Given the description of an element on the screen output the (x, y) to click on. 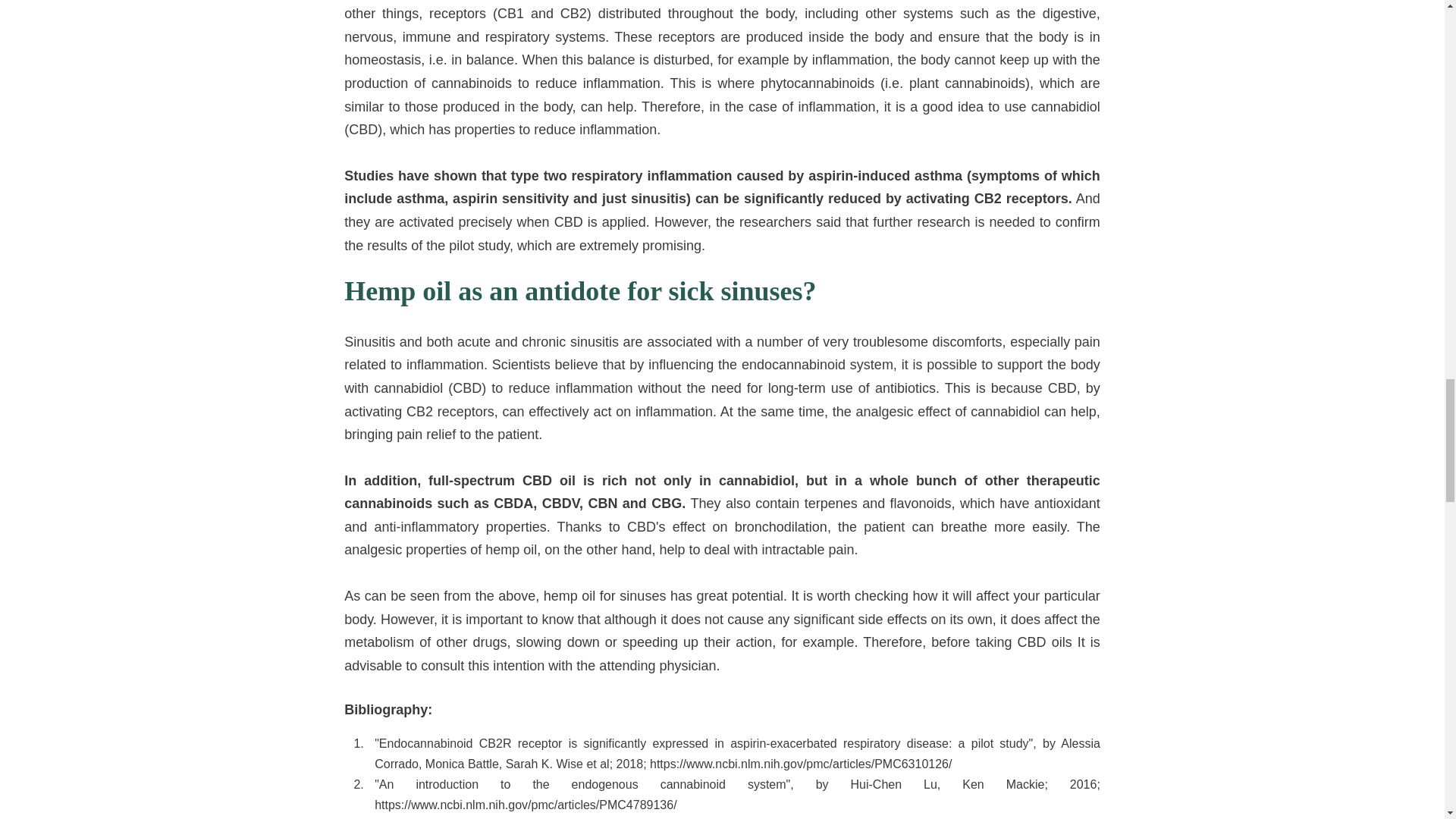
CBD oils (1044, 642)
